Given the description of an element on the screen output the (x, y) to click on. 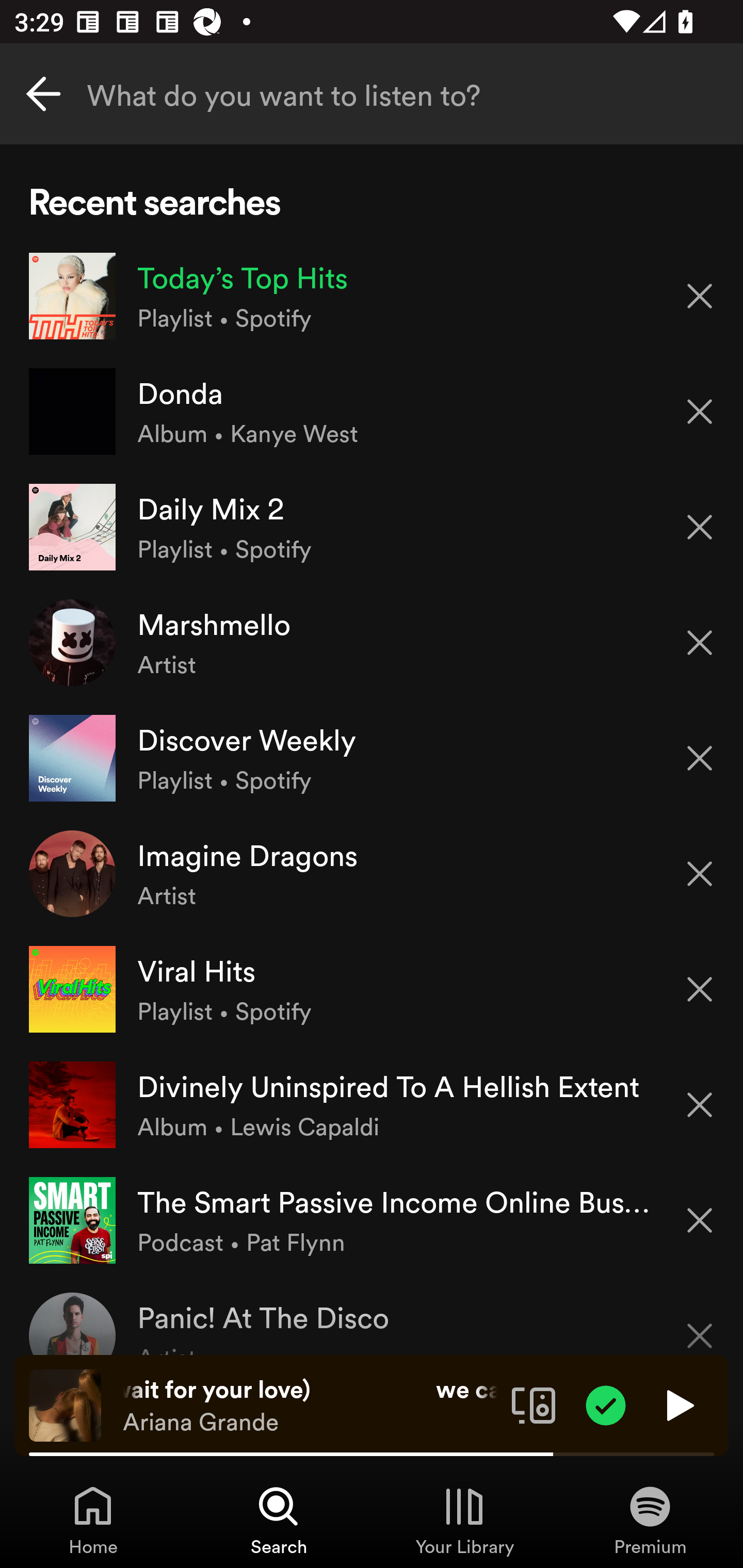
What do you want to listen to? (371, 93)
Cancel (43, 93)
Today’s Top Hits Playlist • Spotify Remove (371, 296)
Remove (699, 295)
Donda Album • Kanye West Remove (371, 411)
Remove (699, 411)
Daily Mix 2 Playlist • Spotify Remove (371, 526)
Remove (699, 527)
Marshmello Artist Remove (371, 642)
Remove (699, 642)
Discover Weekly Playlist • Spotify Remove (371, 757)
Remove (699, 758)
Imagine Dragons Artist Remove (371, 873)
Remove (699, 874)
Viral Hits Playlist • Spotify Remove (371, 989)
Remove (699, 989)
Remove (699, 1104)
Remove (699, 1220)
